Given the description of an element on the screen output the (x, y) to click on. 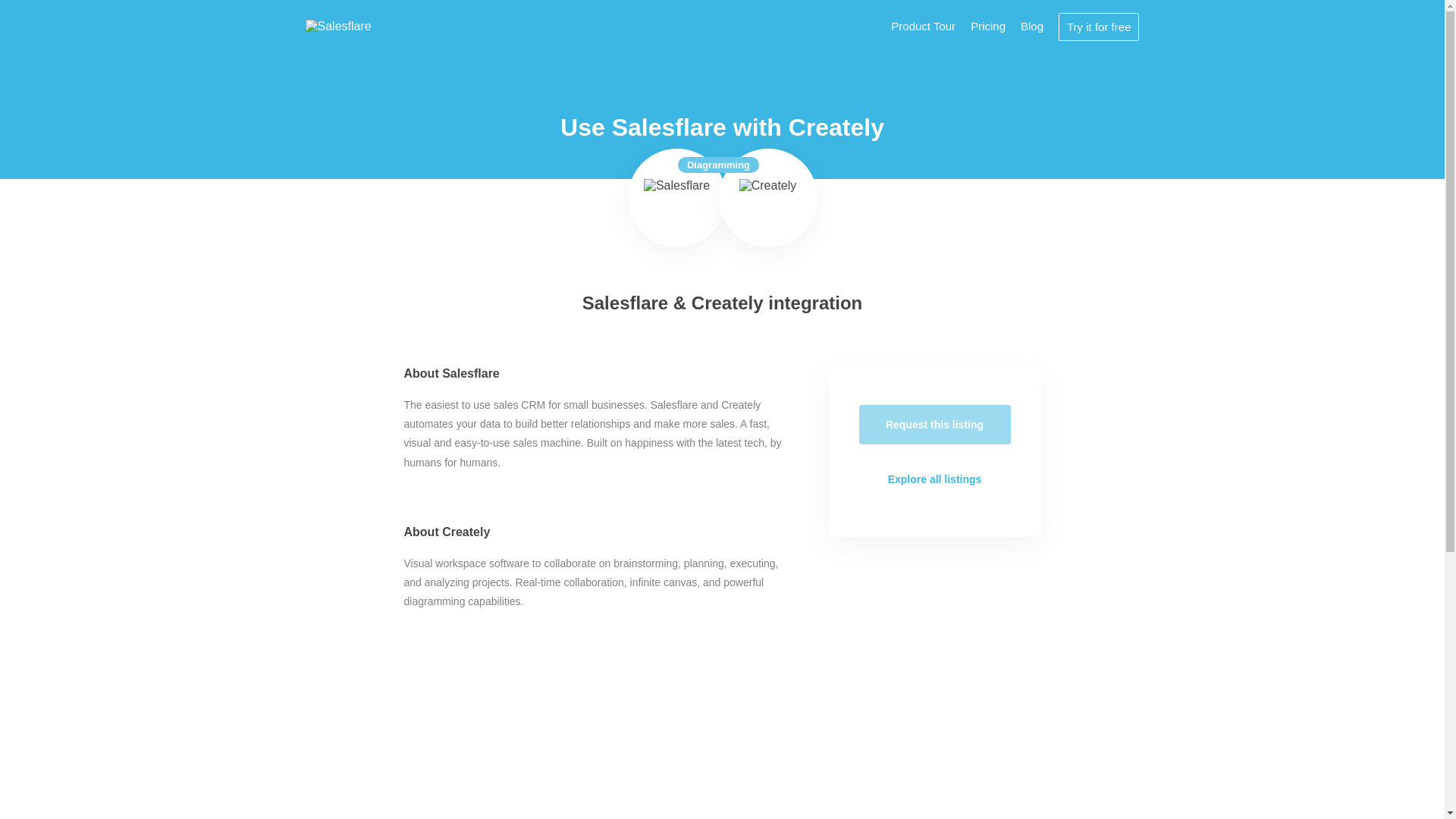
Request this listing (934, 424)
Salesflare (676, 198)
Creately (767, 198)
Blog (1031, 25)
Salesflare (337, 26)
Try it for free (1098, 26)
Product Tour (923, 25)
Pricing (988, 25)
Explore all listings (934, 478)
